Given the description of an element on the screen output the (x, y) to click on. 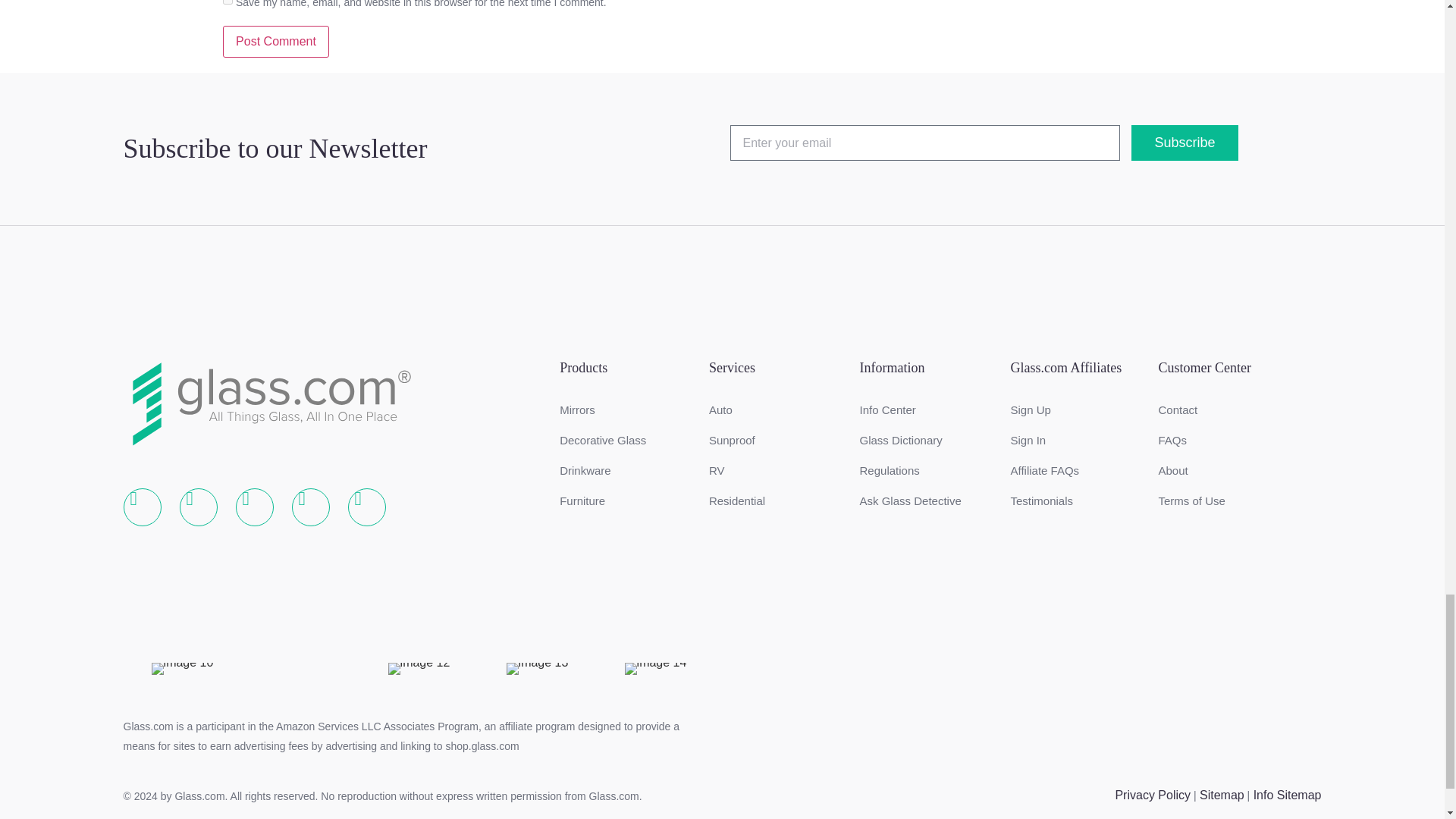
yes (227, 2)
Post Comment (275, 41)
Post Comment (275, 41)
